Given the description of an element on the screen output the (x, y) to click on. 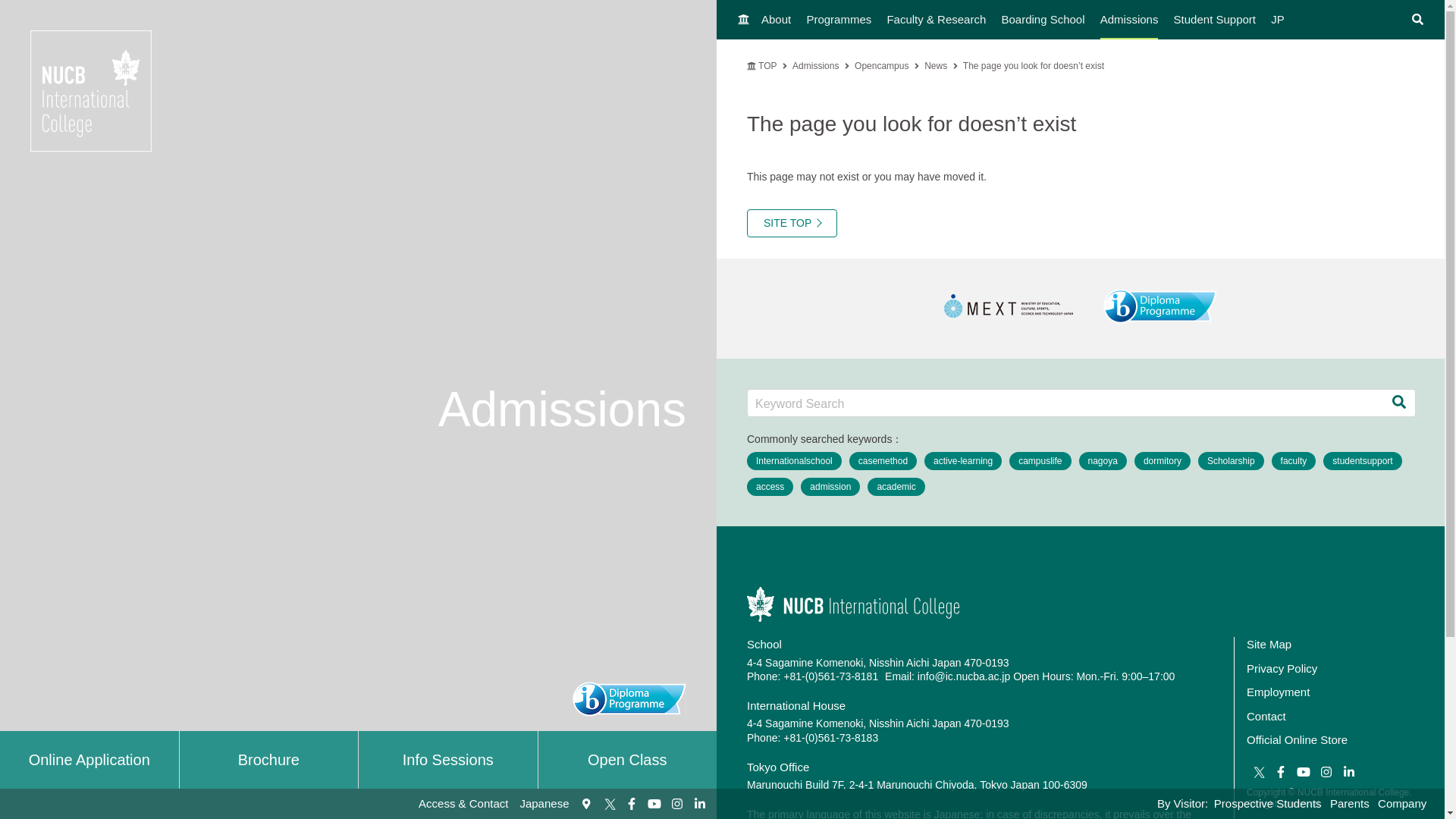
faculty (1293, 461)
academic (895, 486)
campuslife (1039, 461)
nagoya (1102, 461)
active-learning (962, 461)
Internationalschool (793, 461)
access (769, 486)
casemethod (882, 461)
Scholarship (1230, 461)
admission (830, 486)
